Given the description of an element on the screen output the (x, y) to click on. 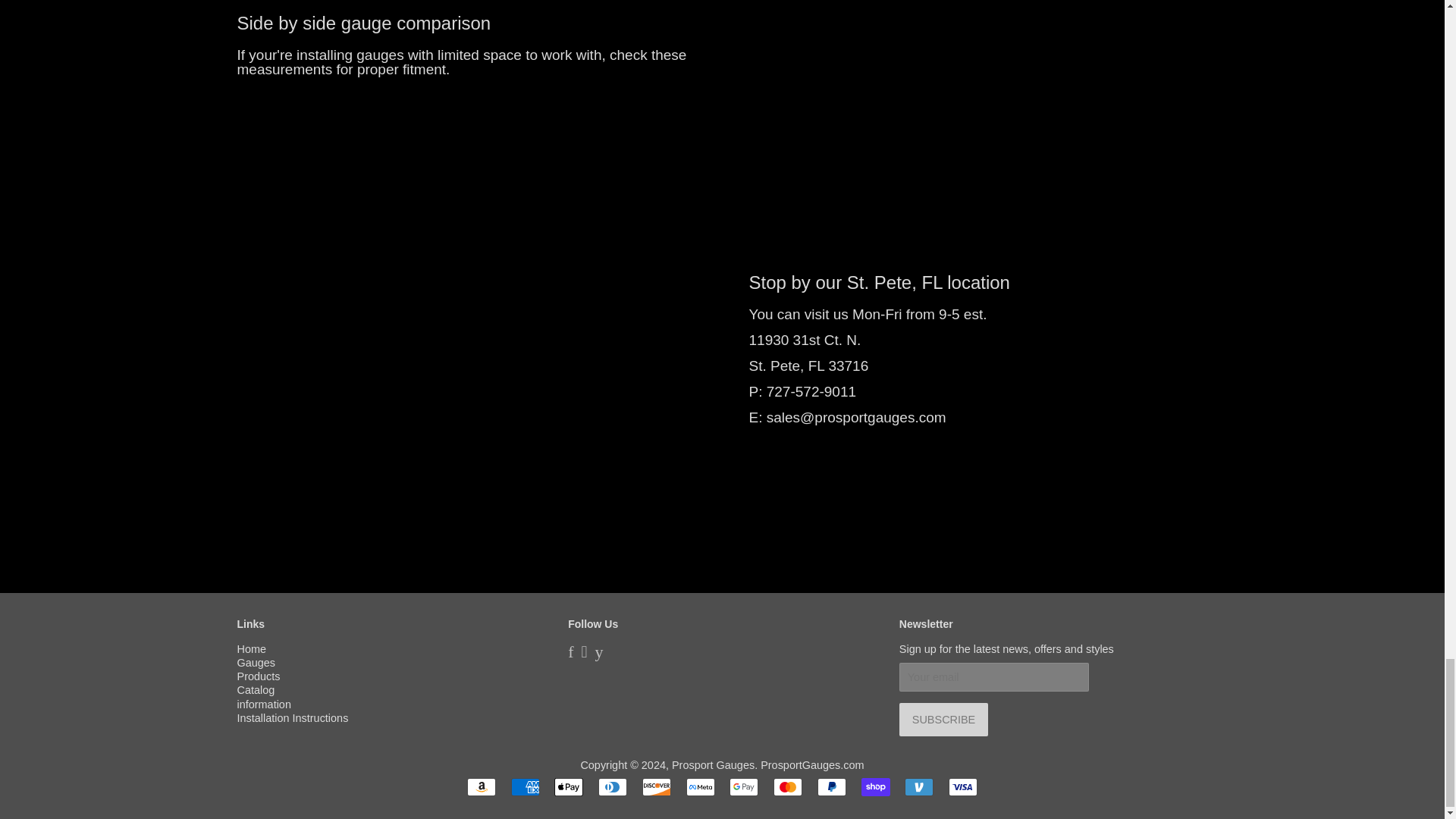
Apple Pay (568, 787)
Mastercard (787, 787)
American Express (525, 787)
Shop Pay (875, 787)
Subscribe (943, 719)
Amazon (481, 787)
Discover (656, 787)
Meta Pay (699, 787)
Diners Club (612, 787)
PayPal (830, 787)
Google Pay (743, 787)
Visa (962, 787)
Venmo (918, 787)
